Given the description of an element on the screen output the (x, y) to click on. 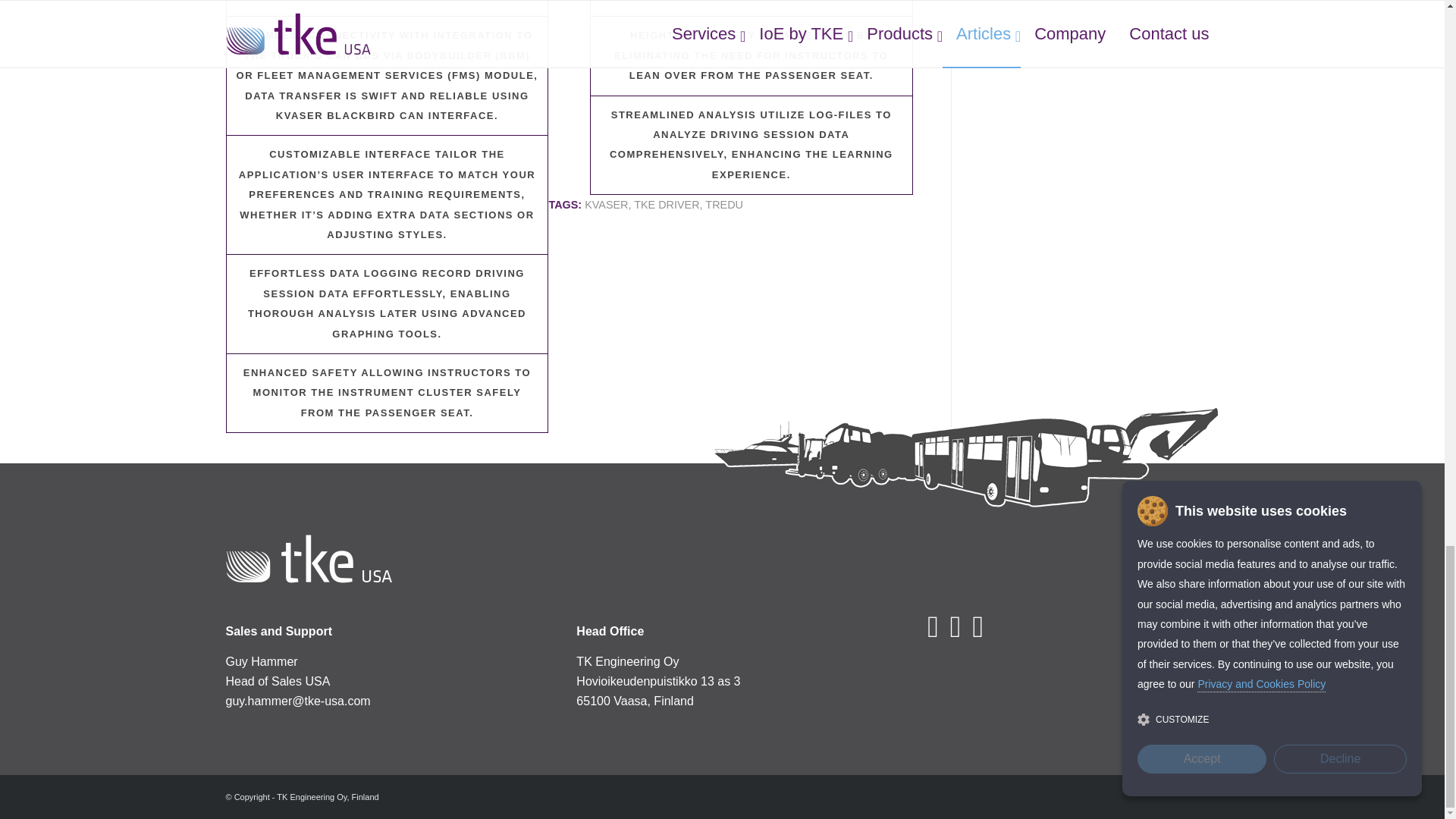
TREDU (723, 204)
KVASER (606, 204)
TKE DRIVER (665, 204)
